Given the description of an element on the screen output the (x, y) to click on. 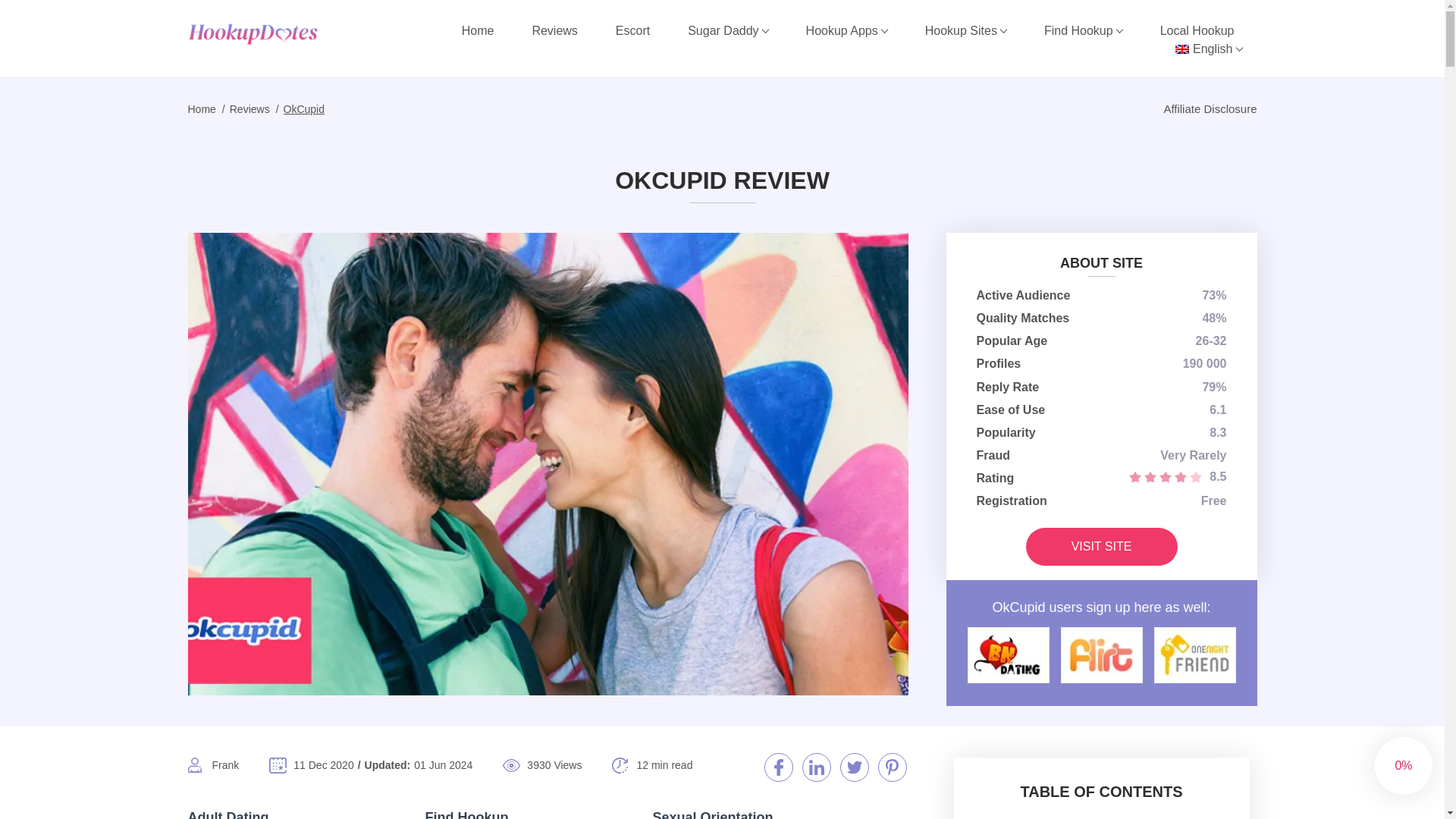
Escort (632, 31)
Sugar Daddy (727, 31)
Hookup Apps (846, 31)
Reviews (554, 31)
hookupdates.net (271, 33)
Hookup Apps (846, 31)
Home (477, 31)
Sugar Daddy (727, 31)
Reviews (554, 31)
Home (477, 31)
Escort (632, 31)
Find Hookup (1083, 31)
Hookup Sites (966, 31)
